Given the description of an element on the screen output the (x, y) to click on. 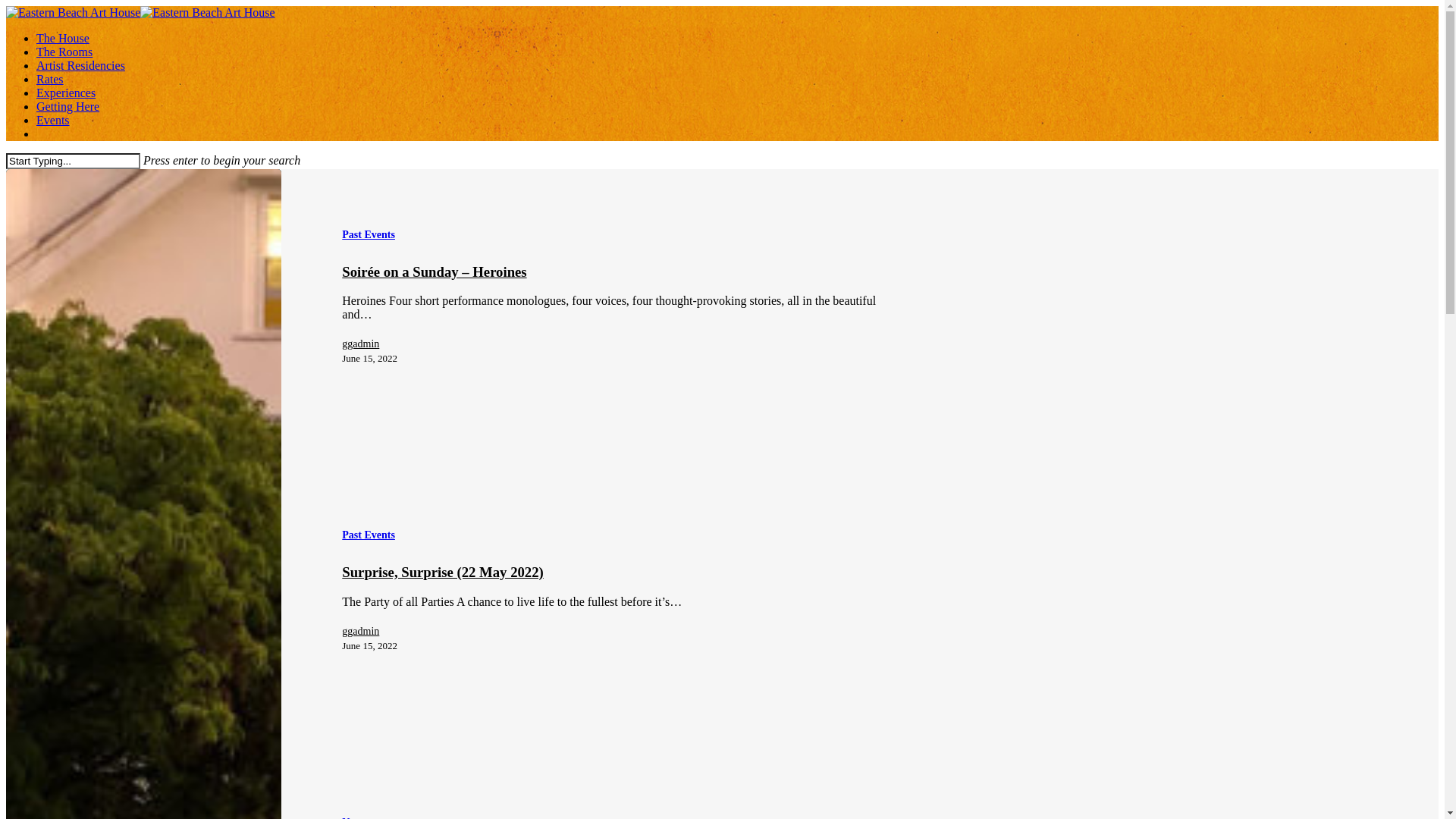
Experiences Element type: text (65, 92)
Rates Element type: text (49, 78)
Artist Residencies Element type: text (80, 65)
Surprise, Surprise (22 May 2022) Element type: text (442, 572)
Past Events Element type: text (368, 534)
The House Element type: text (62, 37)
Events Element type: text (52, 119)
ggadmin Element type: text (369, 631)
The Rooms Element type: text (64, 51)
ggadmin Element type: text (369, 343)
Past Events Element type: text (368, 234)
Getting Here Element type: text (67, 106)
Skip to main content Element type: text (5, 5)
